Given the description of an element on the screen output the (x, y) to click on. 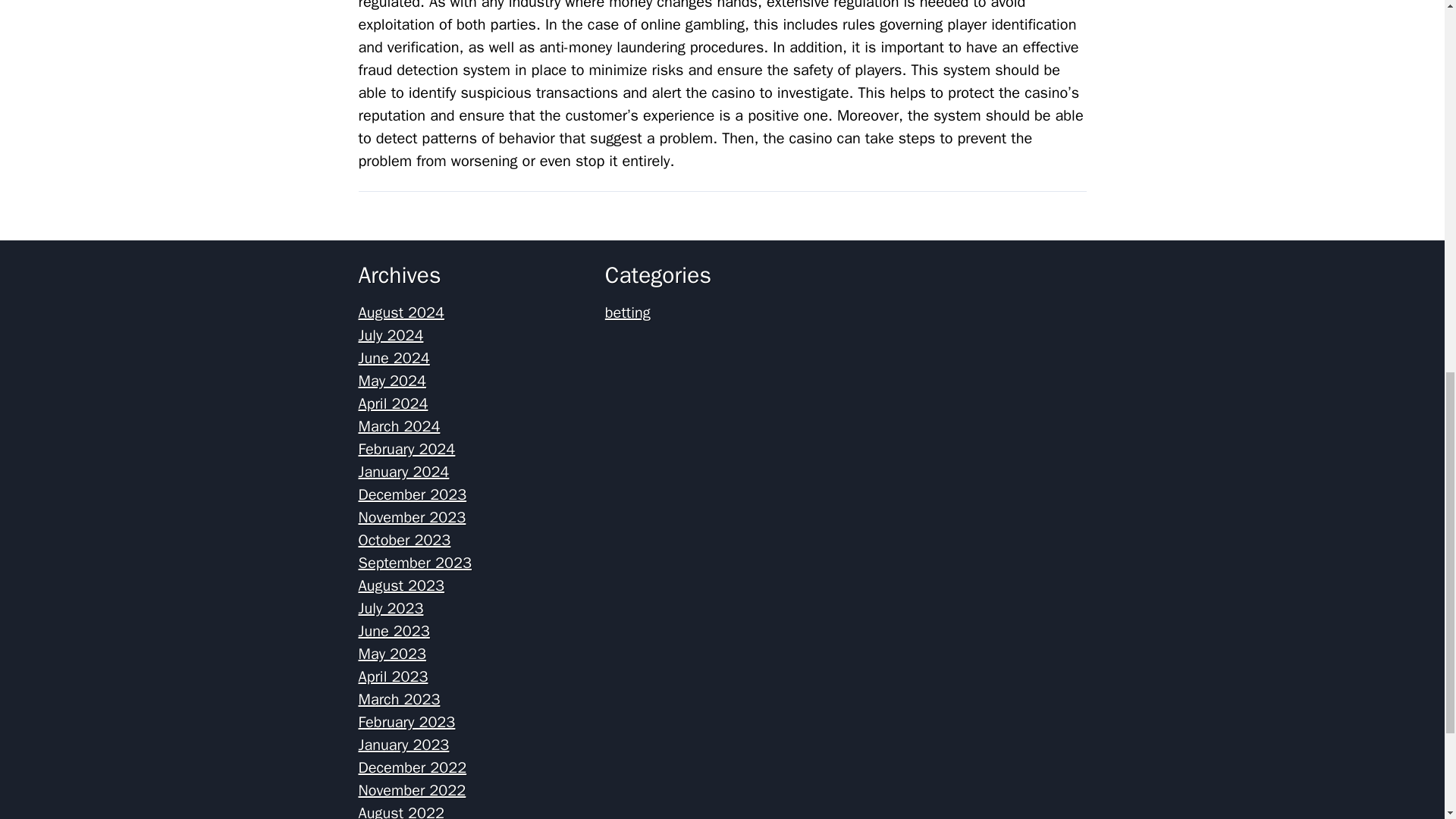
March 2023 (398, 699)
January 2024 (403, 471)
August 2022 (401, 811)
May 2024 (392, 380)
July 2024 (390, 334)
November 2023 (411, 517)
June 2024 (393, 357)
December 2022 (411, 767)
September 2023 (414, 562)
June 2023 (393, 630)
